Given the description of an element on the screen output the (x, y) to click on. 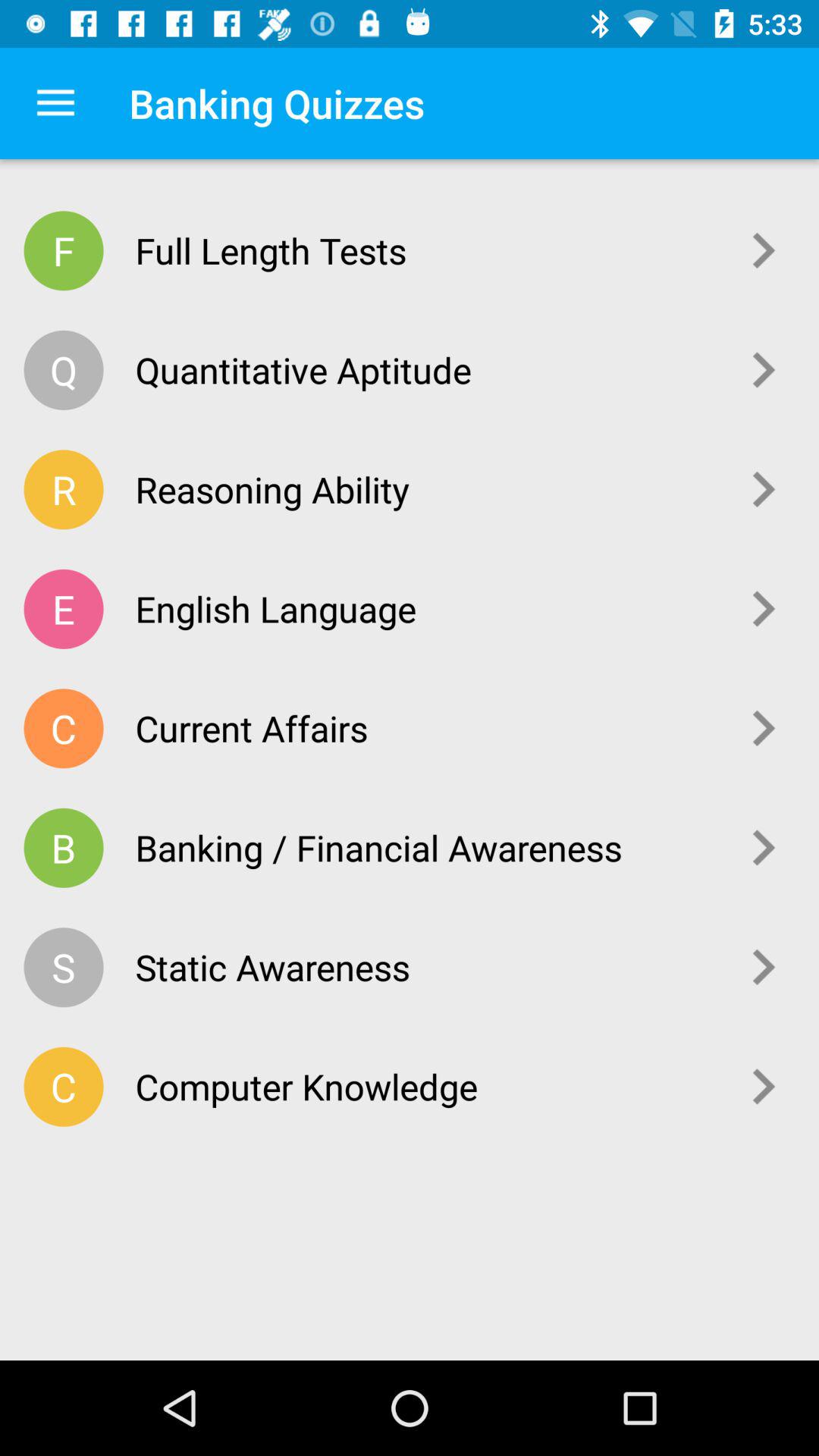
choose icon next to the q item (425, 369)
